Given the description of an element on the screen output the (x, y) to click on. 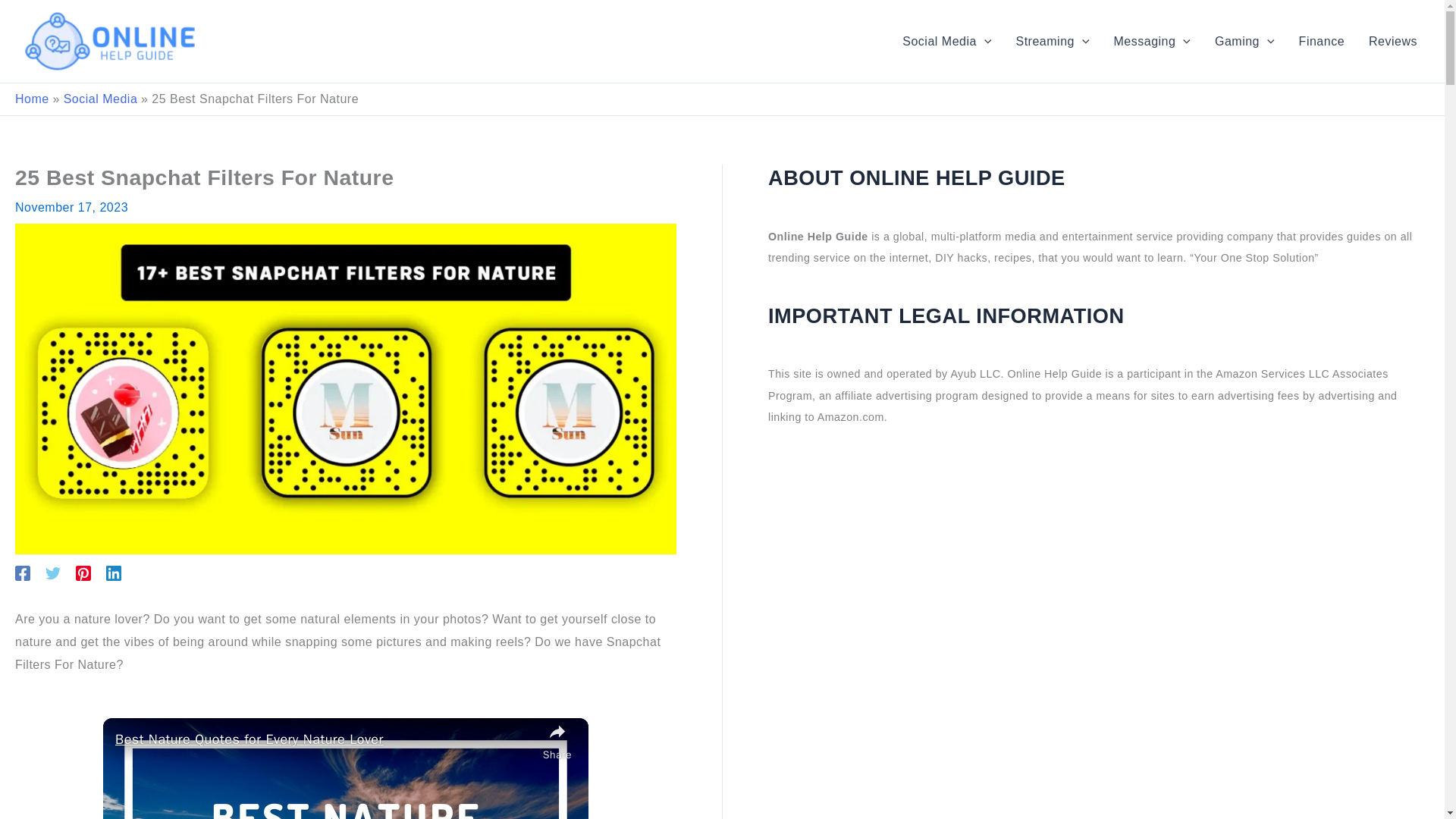
Social Media (946, 40)
Gaming (1244, 40)
Streaming (1053, 40)
Finance (1321, 40)
Reviews (1392, 40)
Messaging (1152, 40)
